Given the description of an element on the screen output the (x, y) to click on. 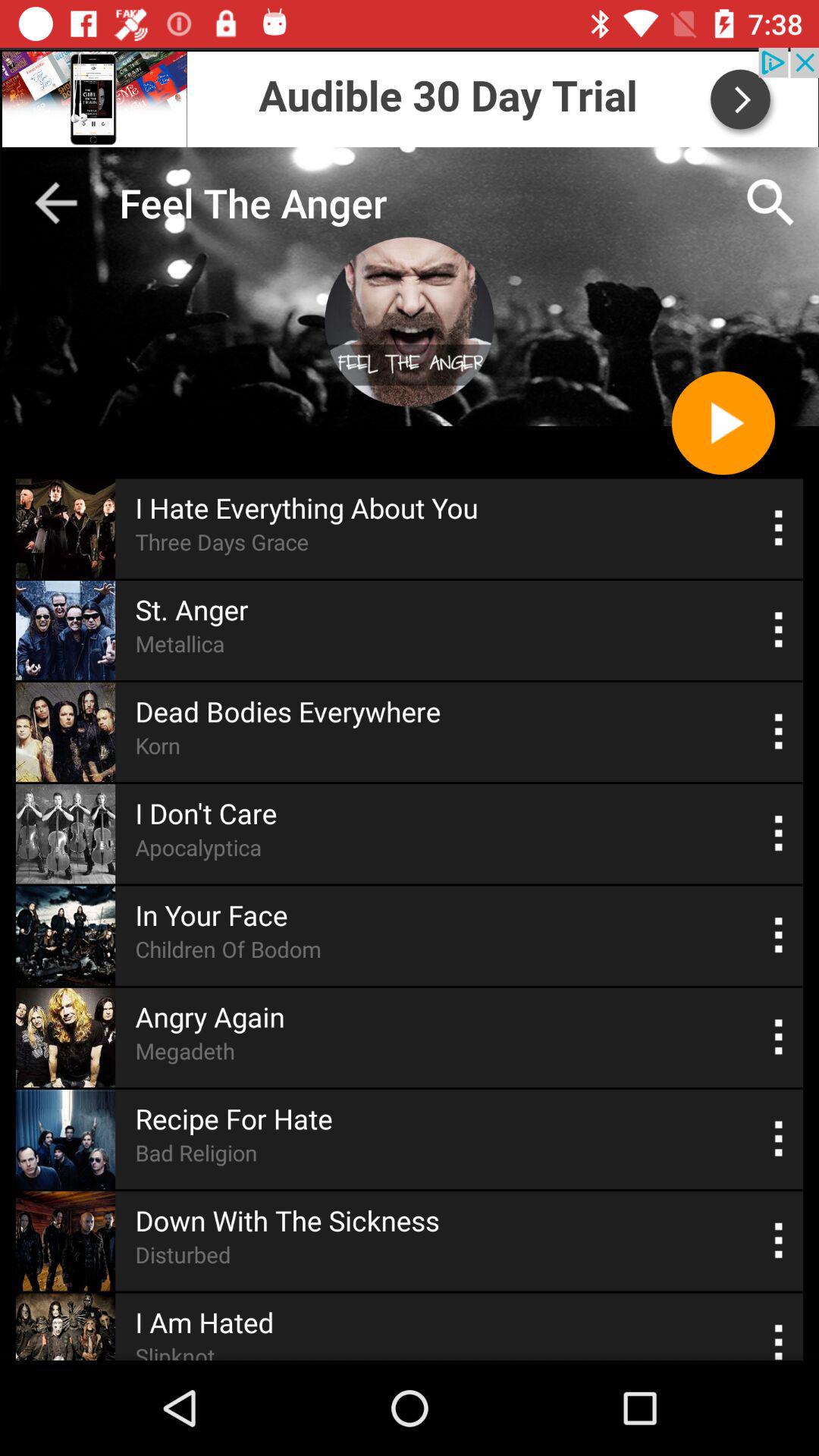
play (723, 422)
